Given the description of an element on the screen output the (x, y) to click on. 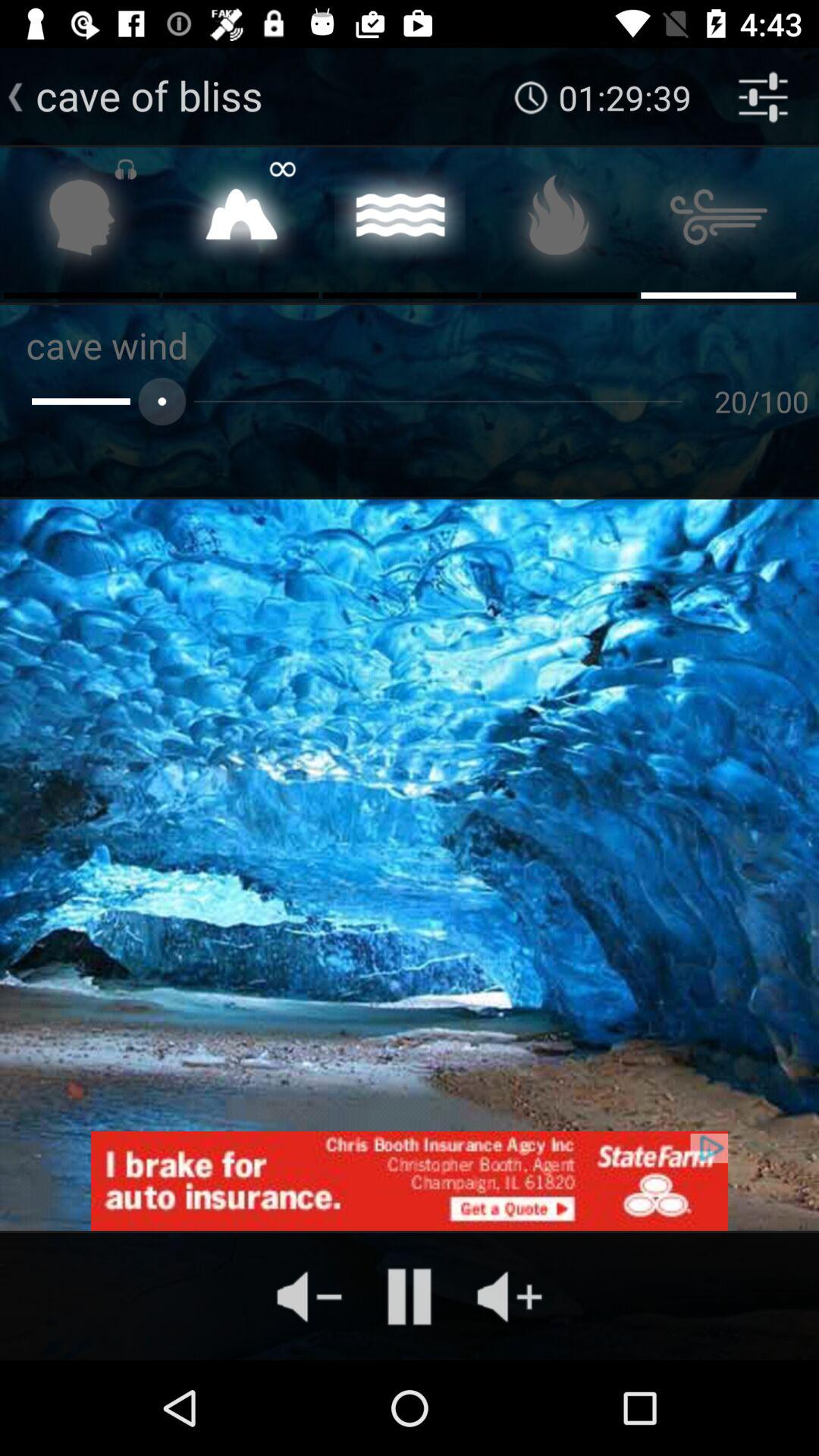
learn about state farm insurance (409, 1180)
